Given the description of an element on the screen output the (x, y) to click on. 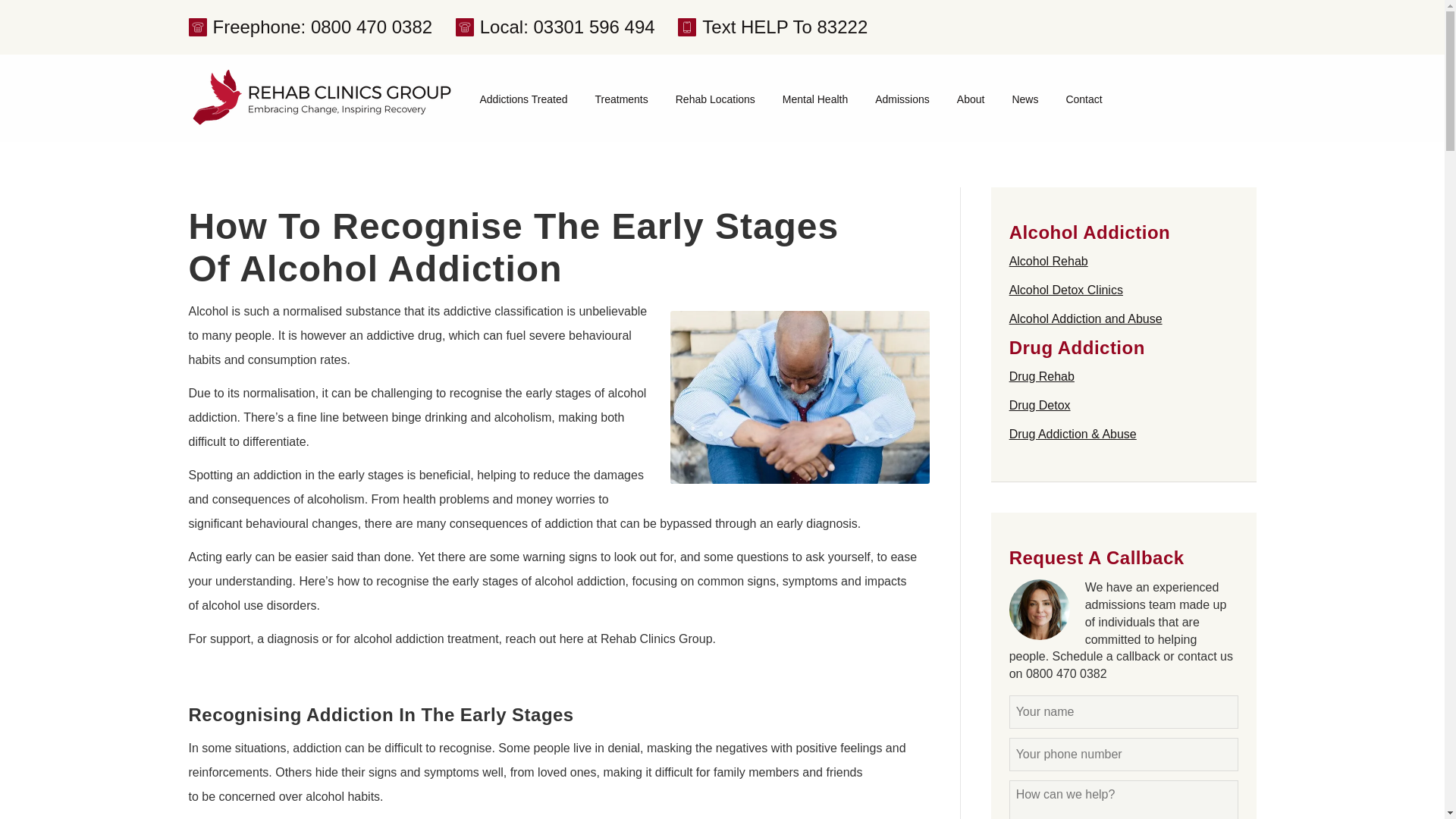
Local: 03301 596 494 (555, 27)
Addictions Treated (523, 98)
Freephone Number (309, 27)
Text HELP To 83222 (772, 27)
Freephone: 0800 470 0382 (309, 27)
Call Us Now (555, 27)
Text Us Now (772, 27)
Rehab Clinics Group (320, 97)
